Given the description of an element on the screen output the (x, y) to click on. 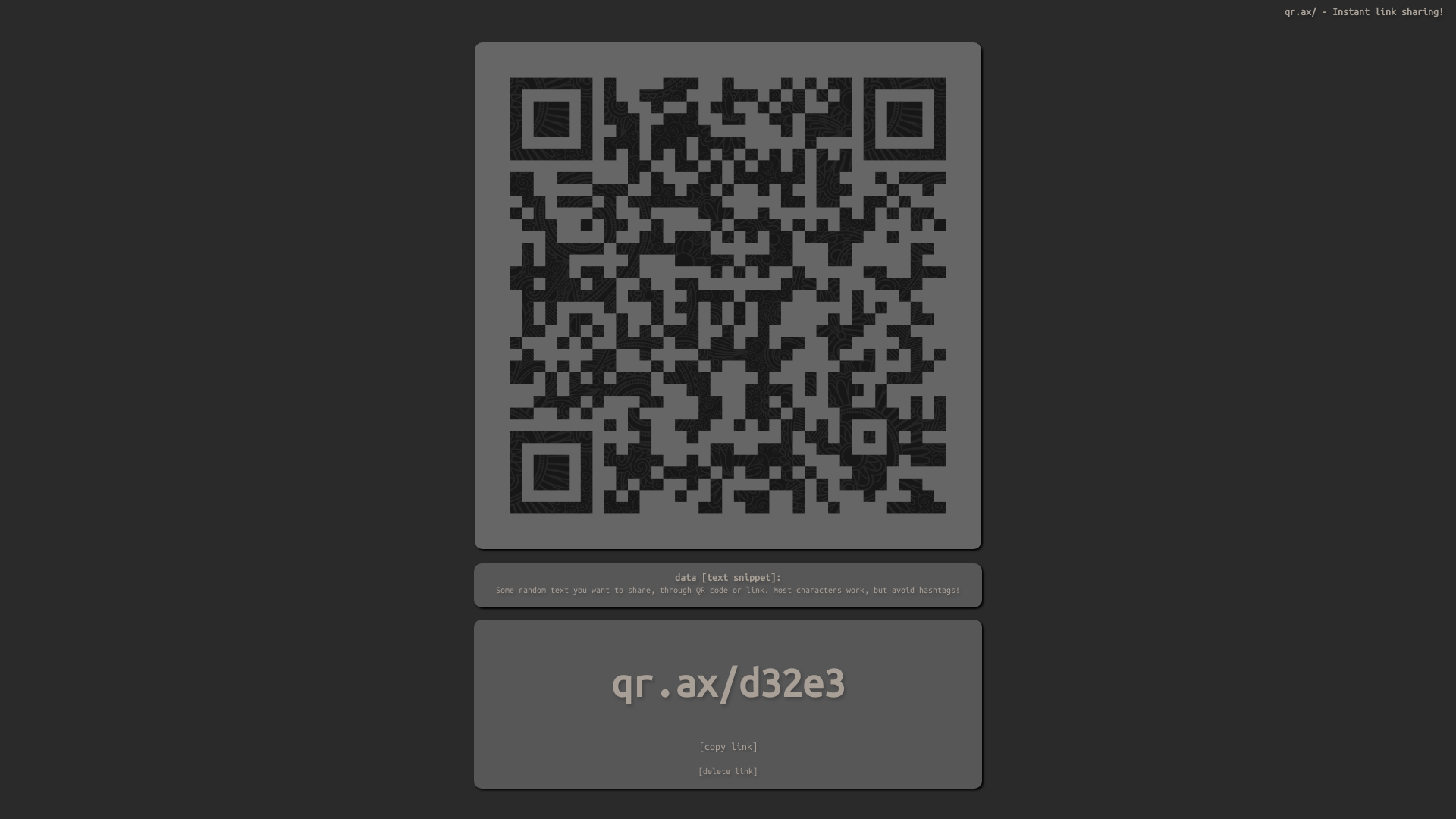
[delete link] Element type: text (727, 770)
qr.ax/d32e3 Element type: text (727, 683)
qr.ax/ - Instant link sharing! Element type: text (1363, 11)
[copy link] Element type: text (728, 746)
